Given the description of an element on the screen output the (x, y) to click on. 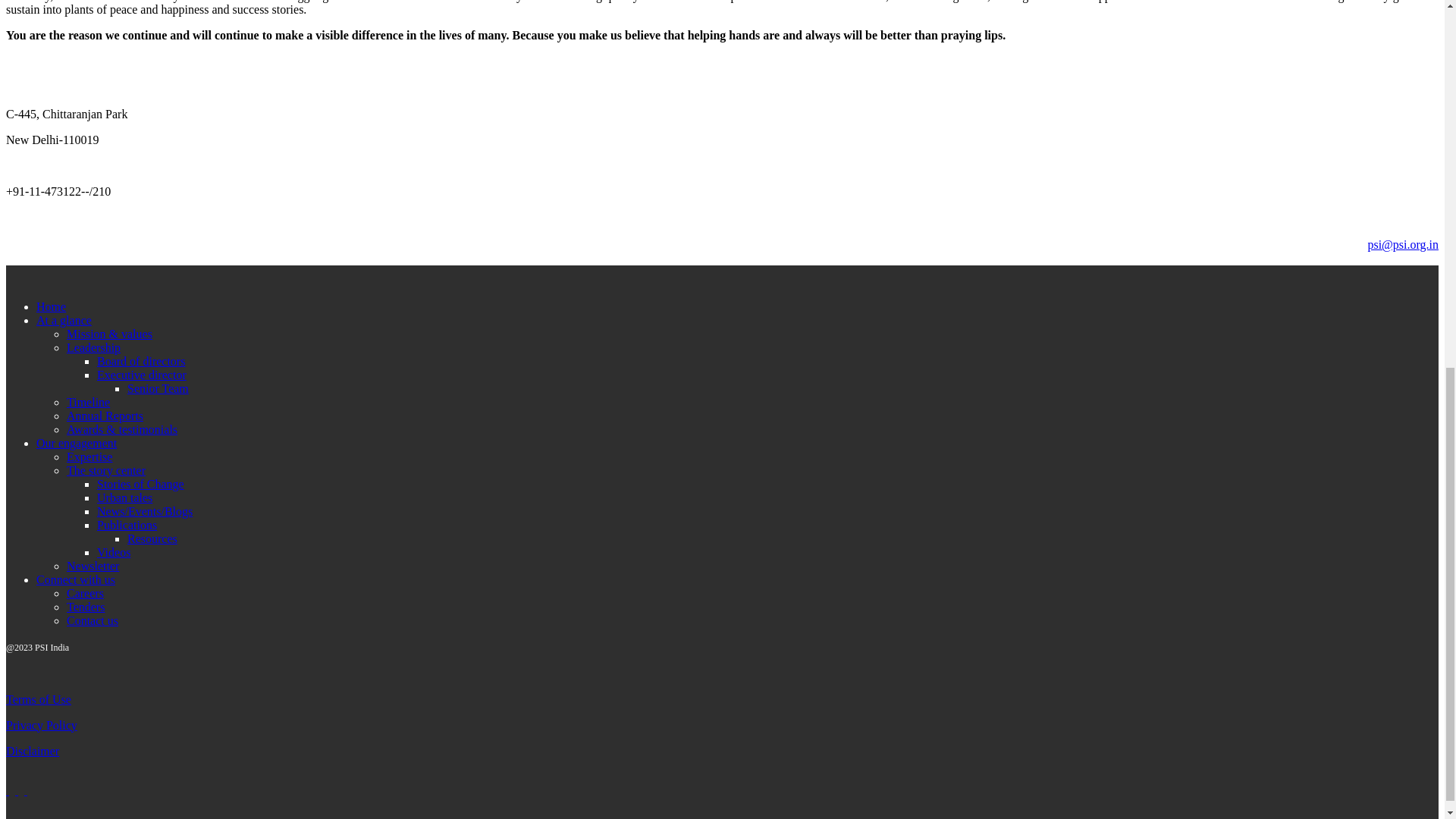
Leadership (93, 347)
Annual Reports (104, 415)
Timeline (88, 401)
Our engagement (76, 442)
Executive director (141, 374)
At a glance (63, 319)
Expertise (89, 456)
Board of directors (140, 360)
Home (50, 306)
Senior Team (158, 388)
